Given the description of an element on the screen output the (x, y) to click on. 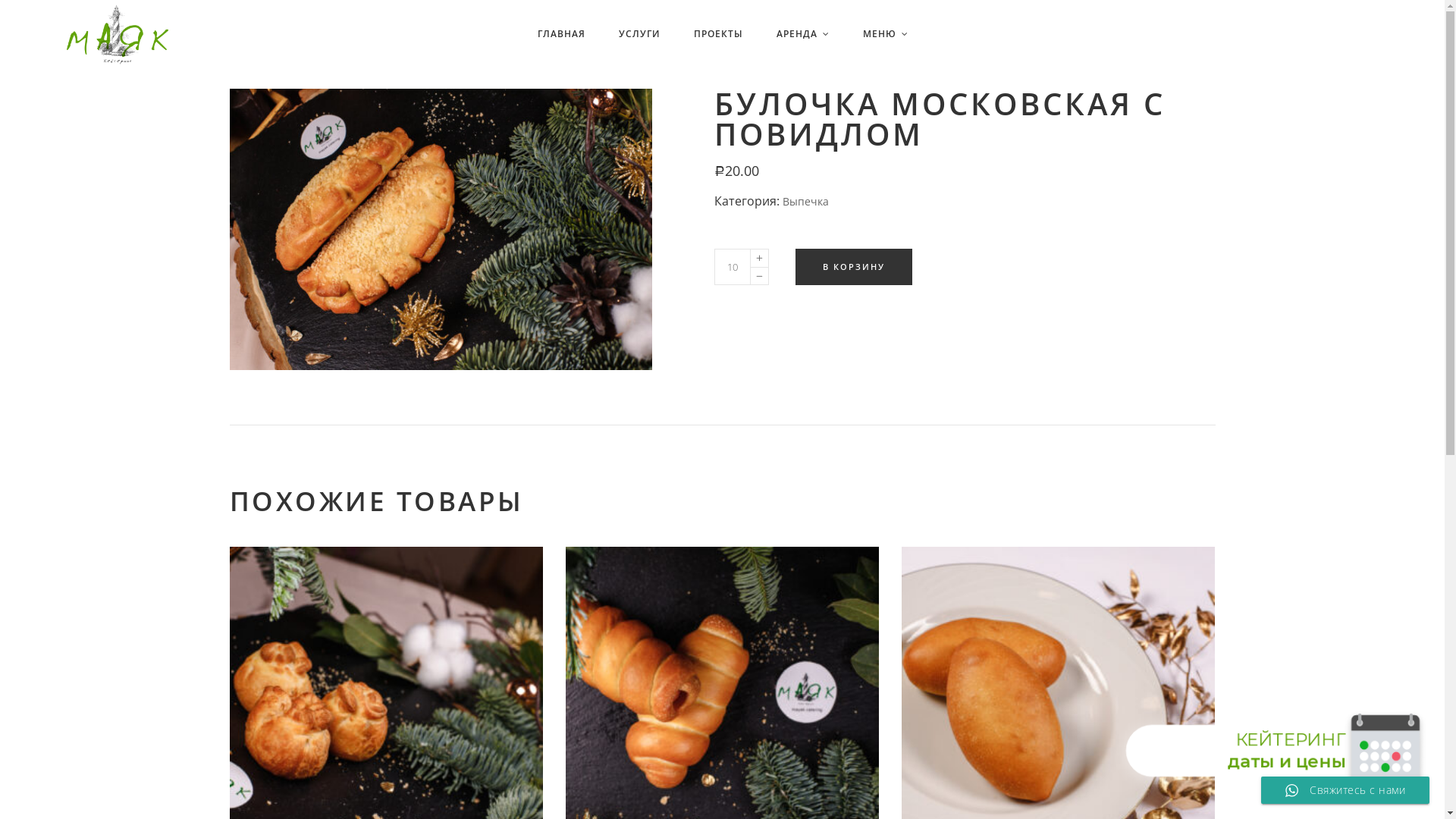
+7 (8352) 44-04-86 Element type: text (1177, 697)
Candy bar Element type: text (754, 622)
Qty Element type: hover (732, 266)
IMG_8751 Element type: hover (440, 229)
+7 903 358-04-86 Element type: text (1120, 717)
Street food Element type: text (757, 528)
